Given the description of an element on the screen output the (x, y) to click on. 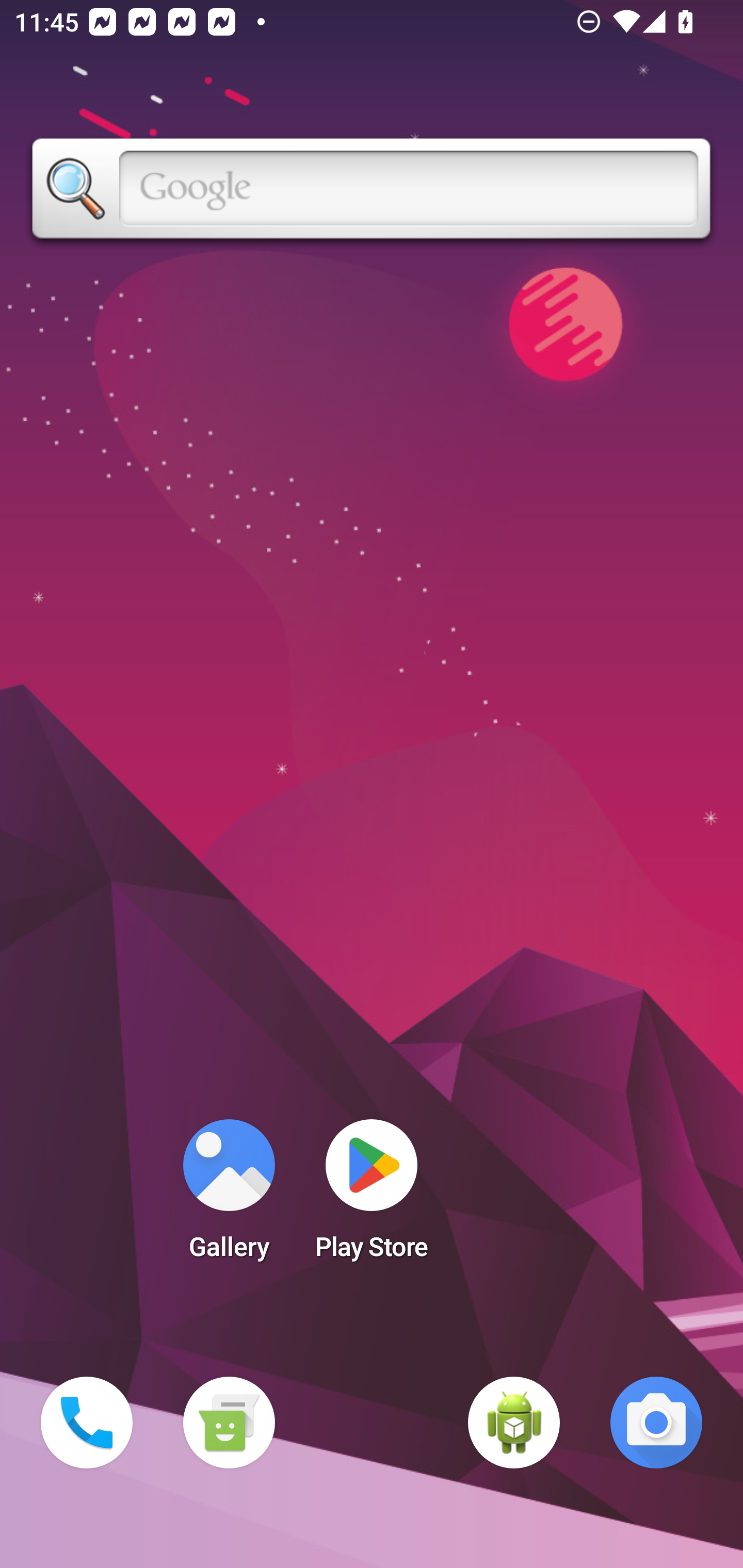
Gallery (228, 1195)
Play Store (371, 1195)
Phone (86, 1422)
Messaging (228, 1422)
WebView Browser Tester (513, 1422)
Camera (656, 1422)
